Given the description of an element on the screen output the (x, y) to click on. 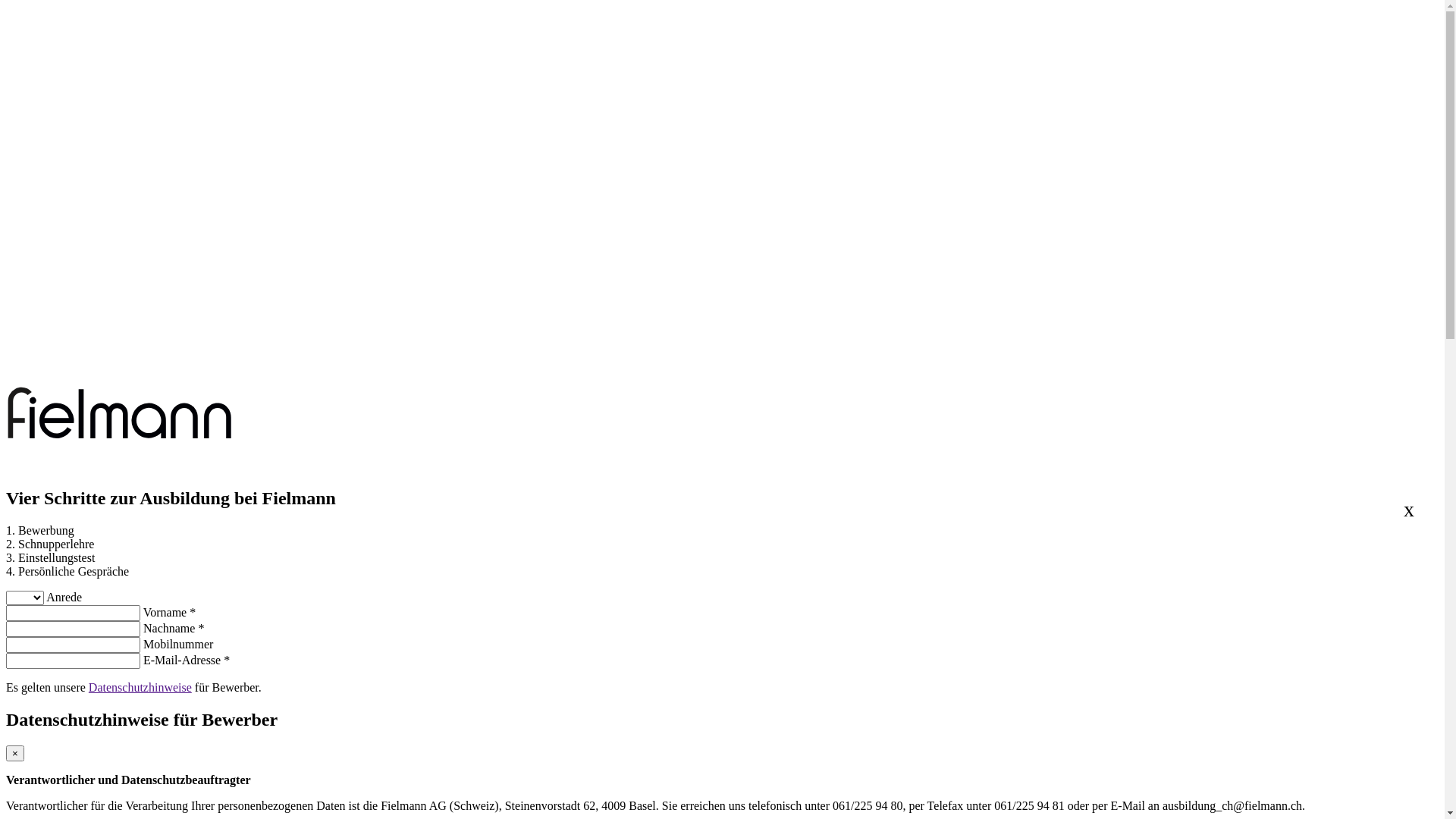
Datenschutzhinweise Element type: text (139, 686)
